Given the description of an element on the screen output the (x, y) to click on. 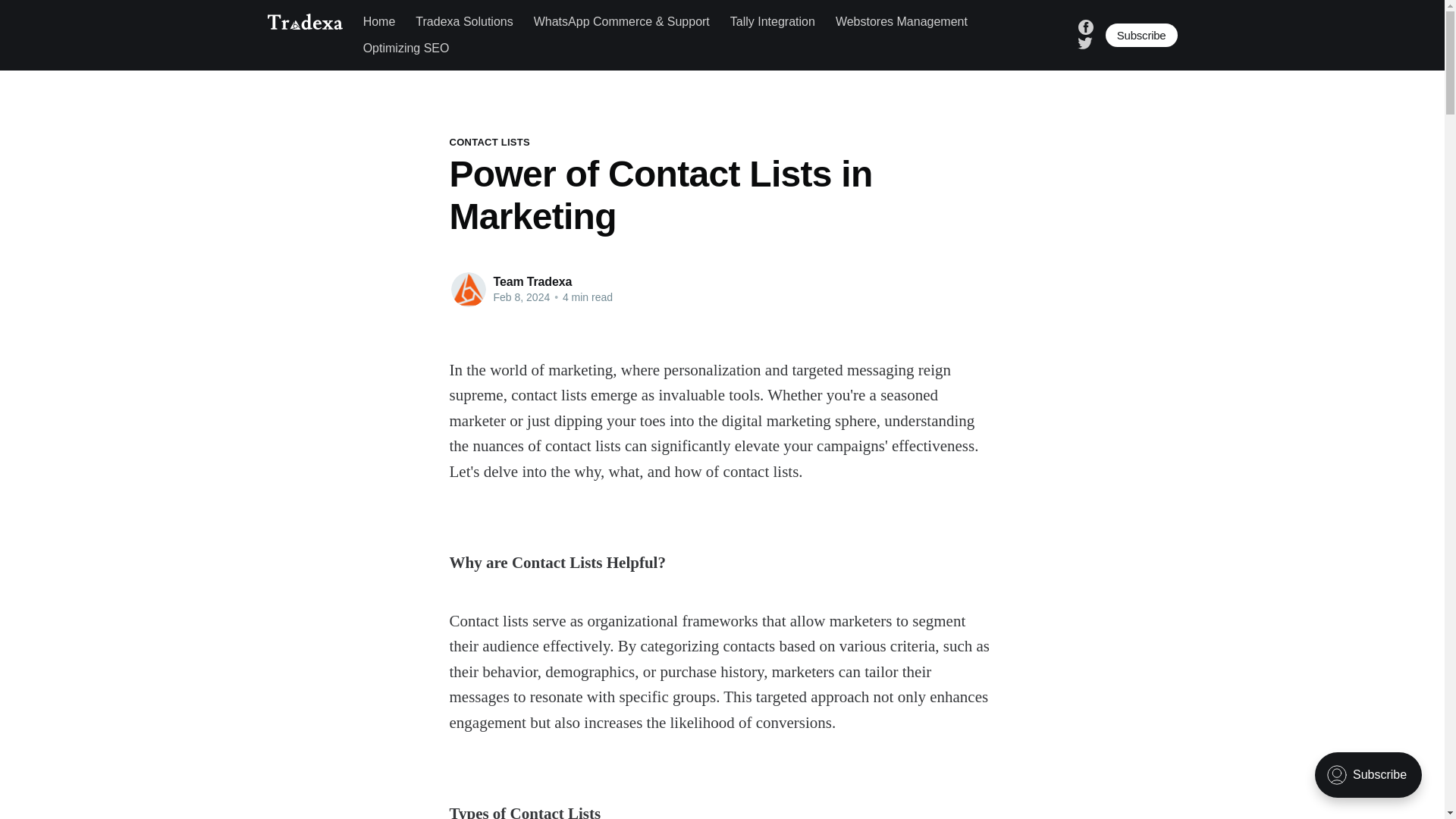
Tally Integration (772, 22)
Twitter (1085, 42)
Tradexa Solutions (463, 22)
Optimizing SEO (405, 48)
Facebook (1085, 25)
Team Tradexa (532, 281)
Webstores Management (901, 22)
Subscribe (1141, 34)
CONTACT LISTS (488, 142)
Home (379, 22)
